Given the description of an element on the screen output the (x, y) to click on. 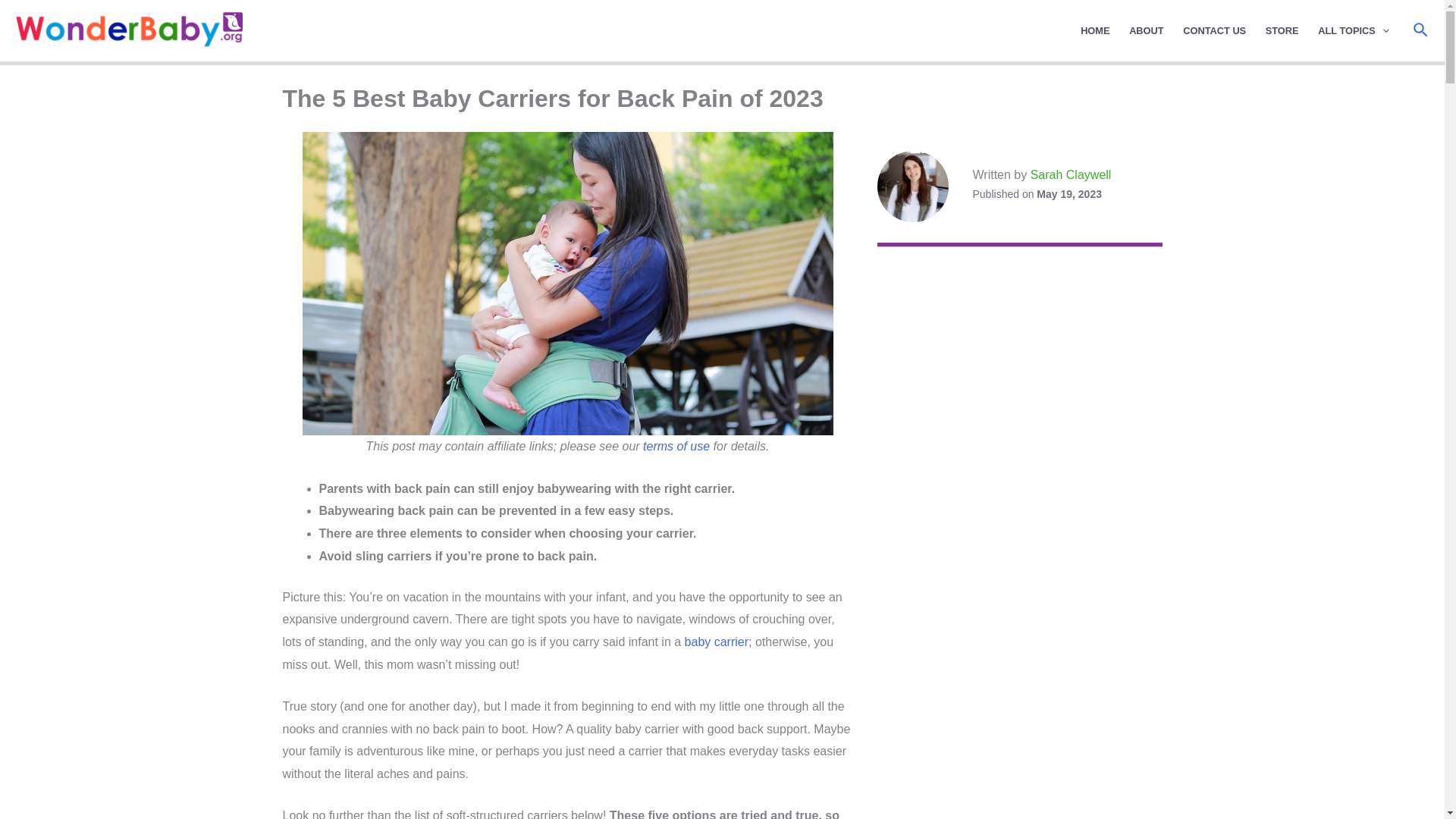
ABOUT (1146, 30)
ALL TOPICS (1352, 30)
CONTACT US (1214, 30)
HOME (1094, 30)
STORE (1281, 30)
